Given the description of an element on the screen output the (x, y) to click on. 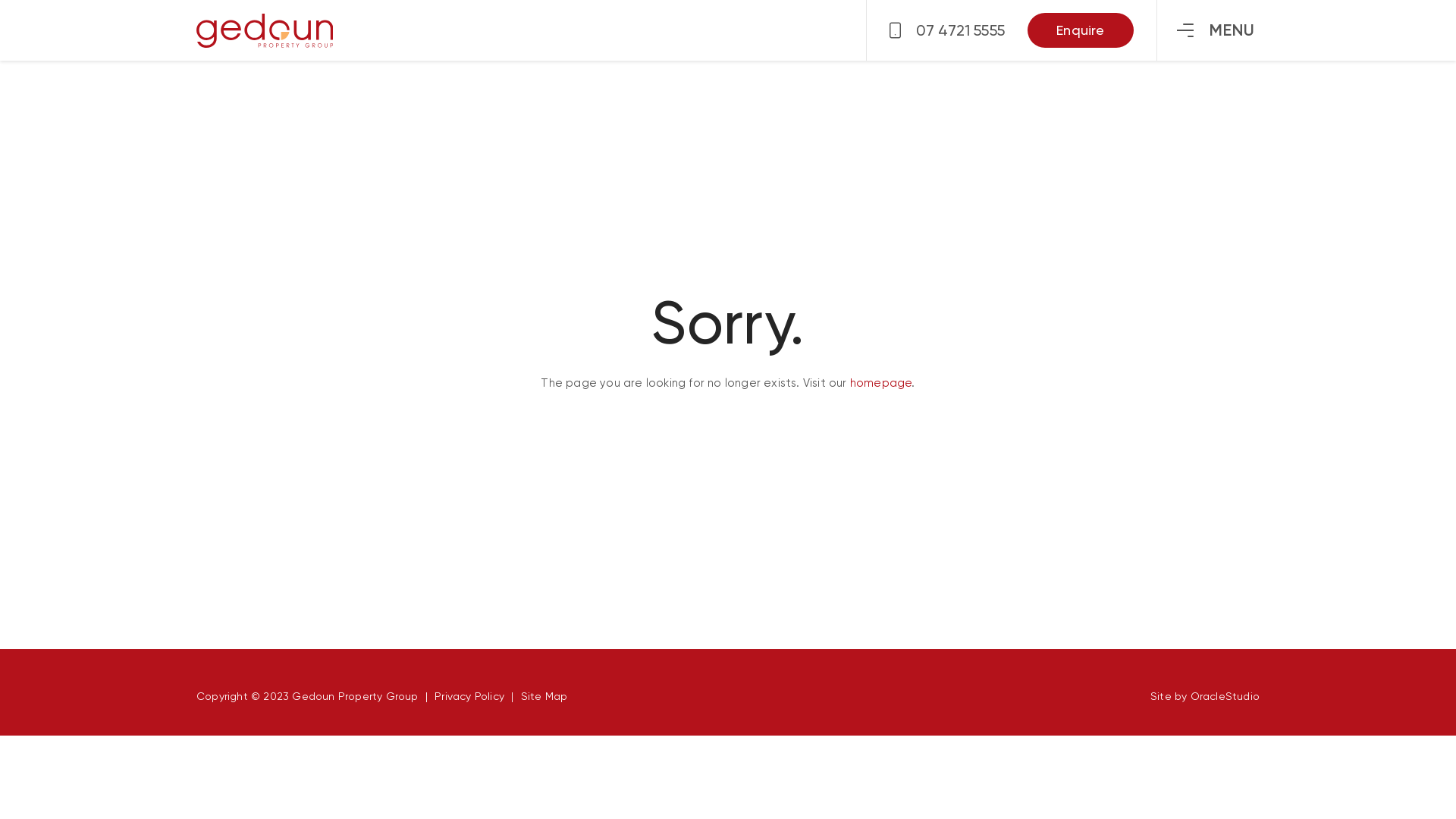
MENU Element type: text (1215, 30)
Privacy Policy Element type: text (469, 696)
07 4721 5555 Element type: text (946, 29)
Enquire Element type: text (1080, 29)
Site Map Element type: text (543, 696)
OracleStudio Element type: text (1224, 696)
homepage Element type: text (881, 382)
